Given the description of an element on the screen output the (x, y) to click on. 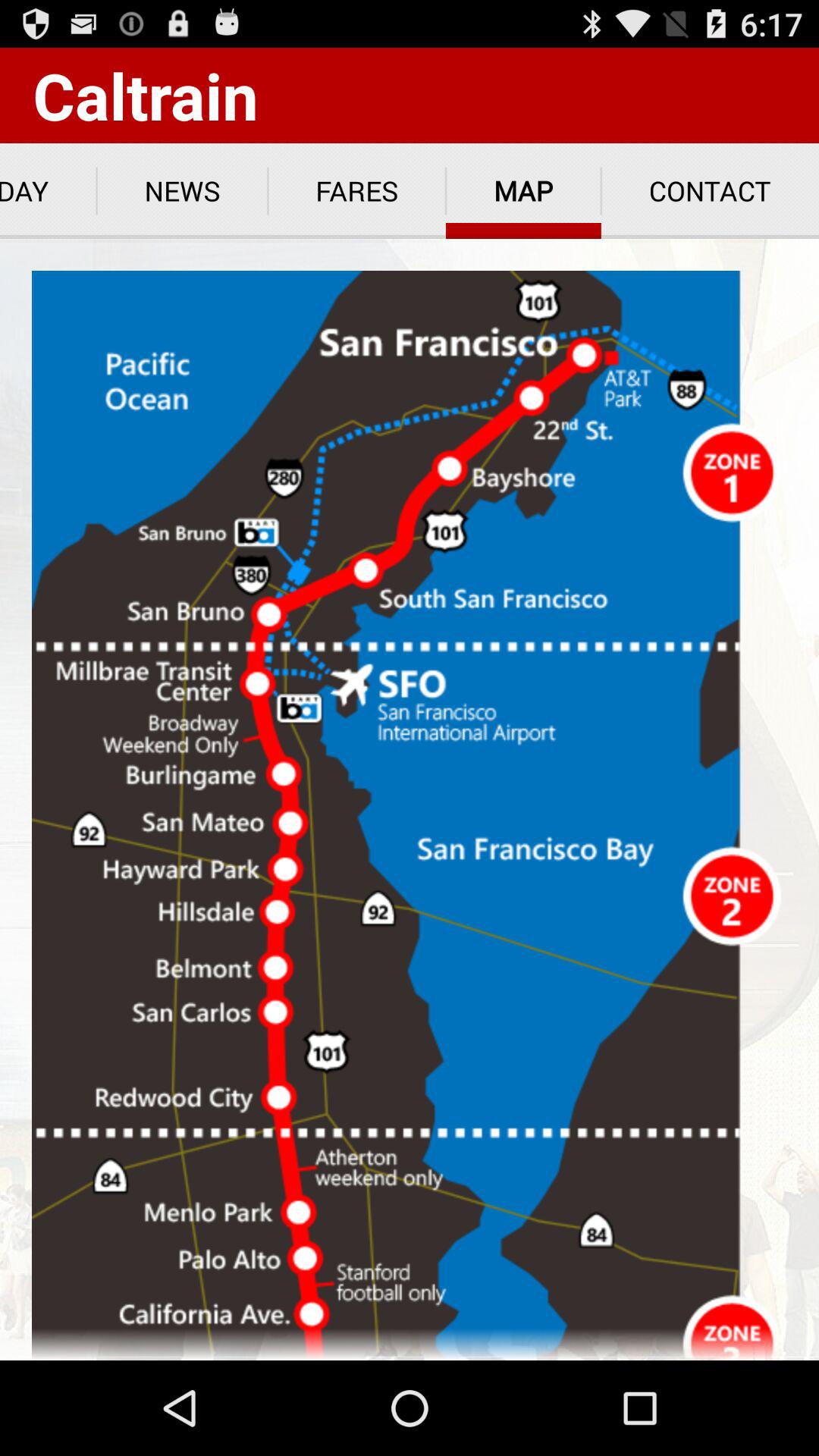
press the item next to the news app (356, 190)
